Given the description of an element on the screen output the (x, y) to click on. 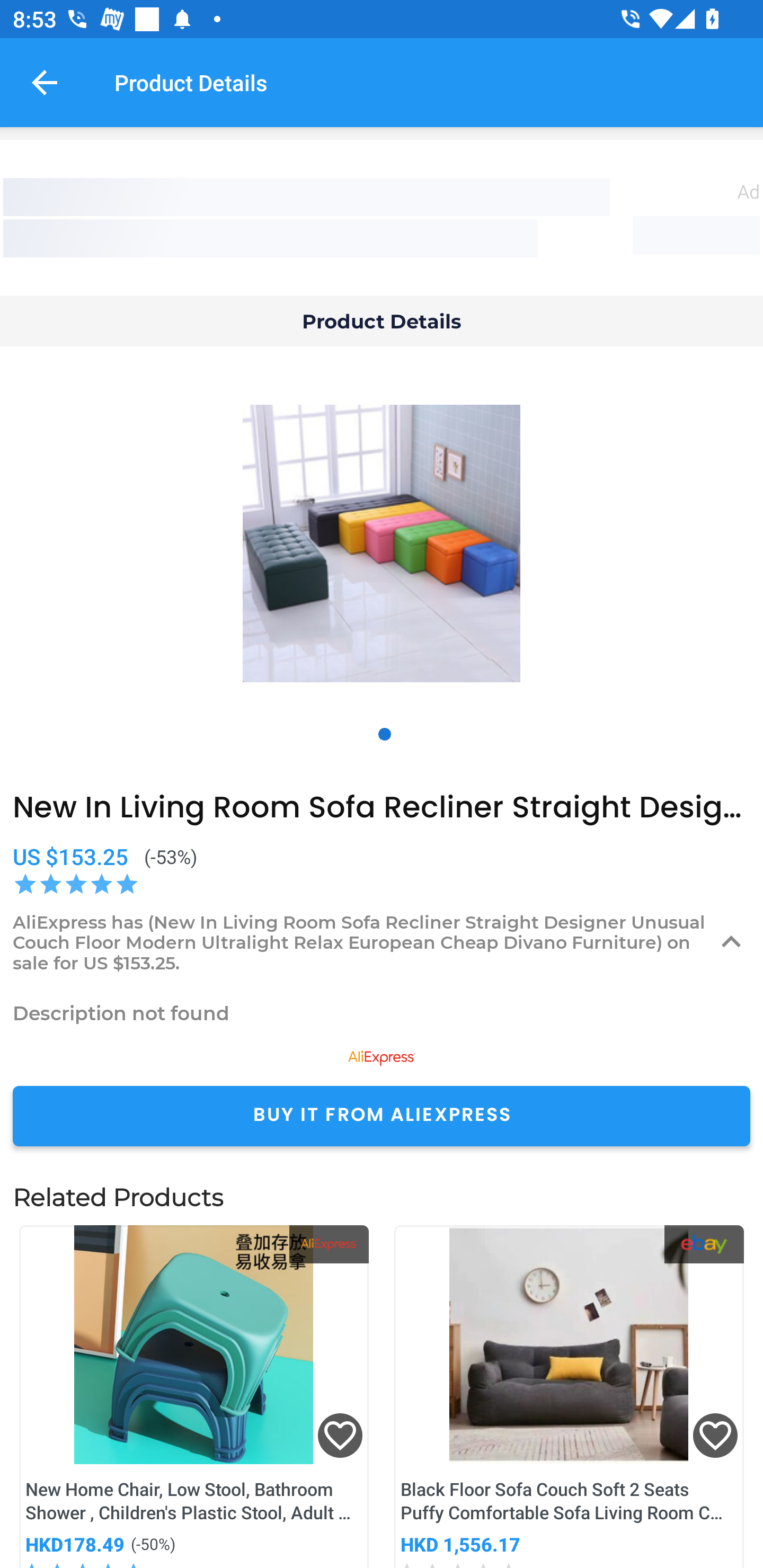
Navigate up (44, 82)
Description not found (381, 1012)
BUY IT FROM ALIEXPRESS (381, 1115)
